Given the description of an element on the screen output the (x, y) to click on. 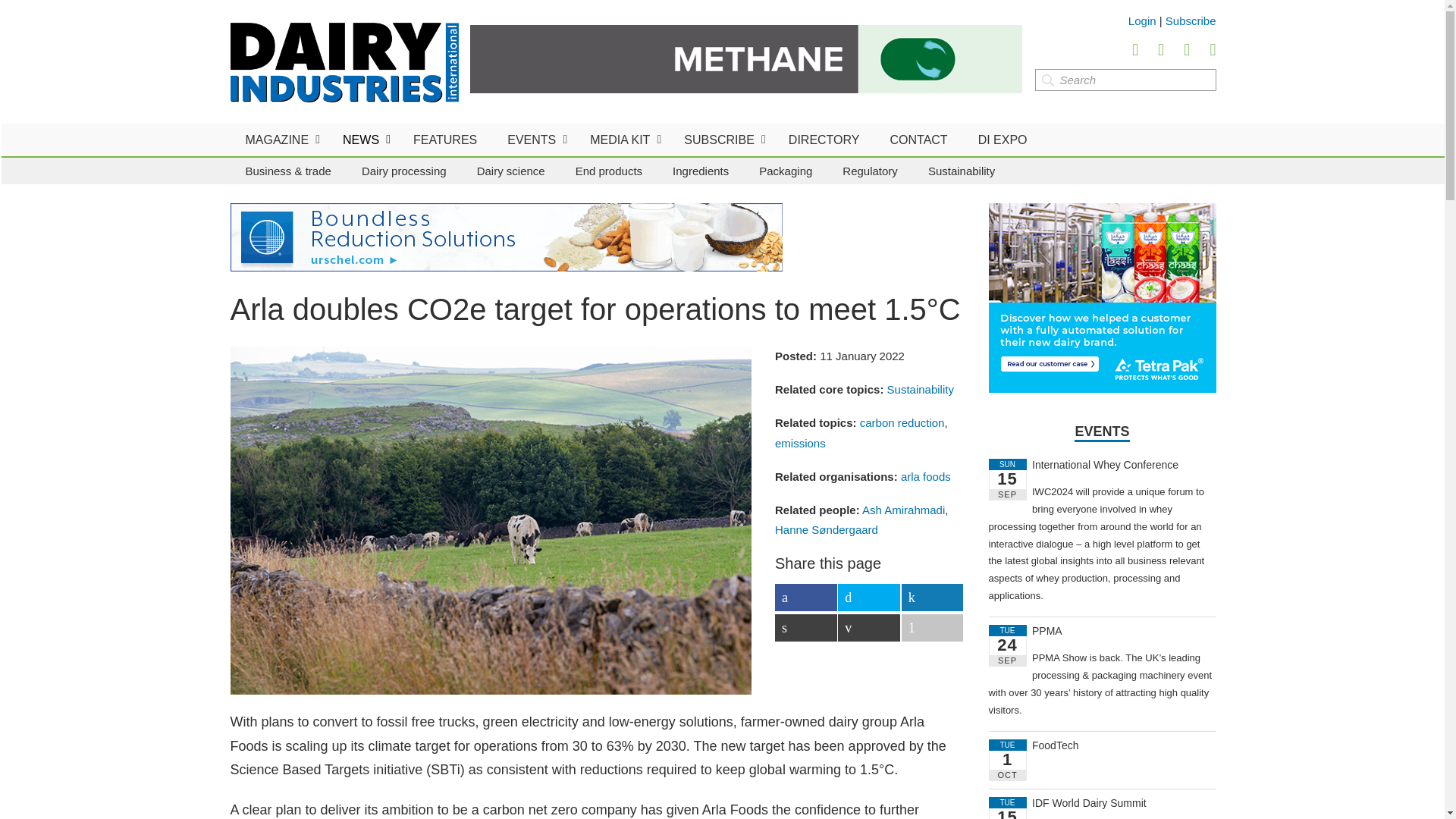
Share on Facebook (805, 596)
Dairy processing (403, 171)
NEWS (362, 139)
Share on LinkedIn (932, 596)
Dairy Industries International (344, 62)
Share on Print (805, 627)
MAGAZINE (279, 139)
Ingredients (701, 171)
Share on More Button (932, 627)
Login (1142, 20)
Share on Email (868, 627)
Search (1124, 79)
Share on Twitter (868, 596)
CONTACT (918, 139)
MEDIA KIT (621, 139)
